Given the description of an element on the screen output the (x, y) to click on. 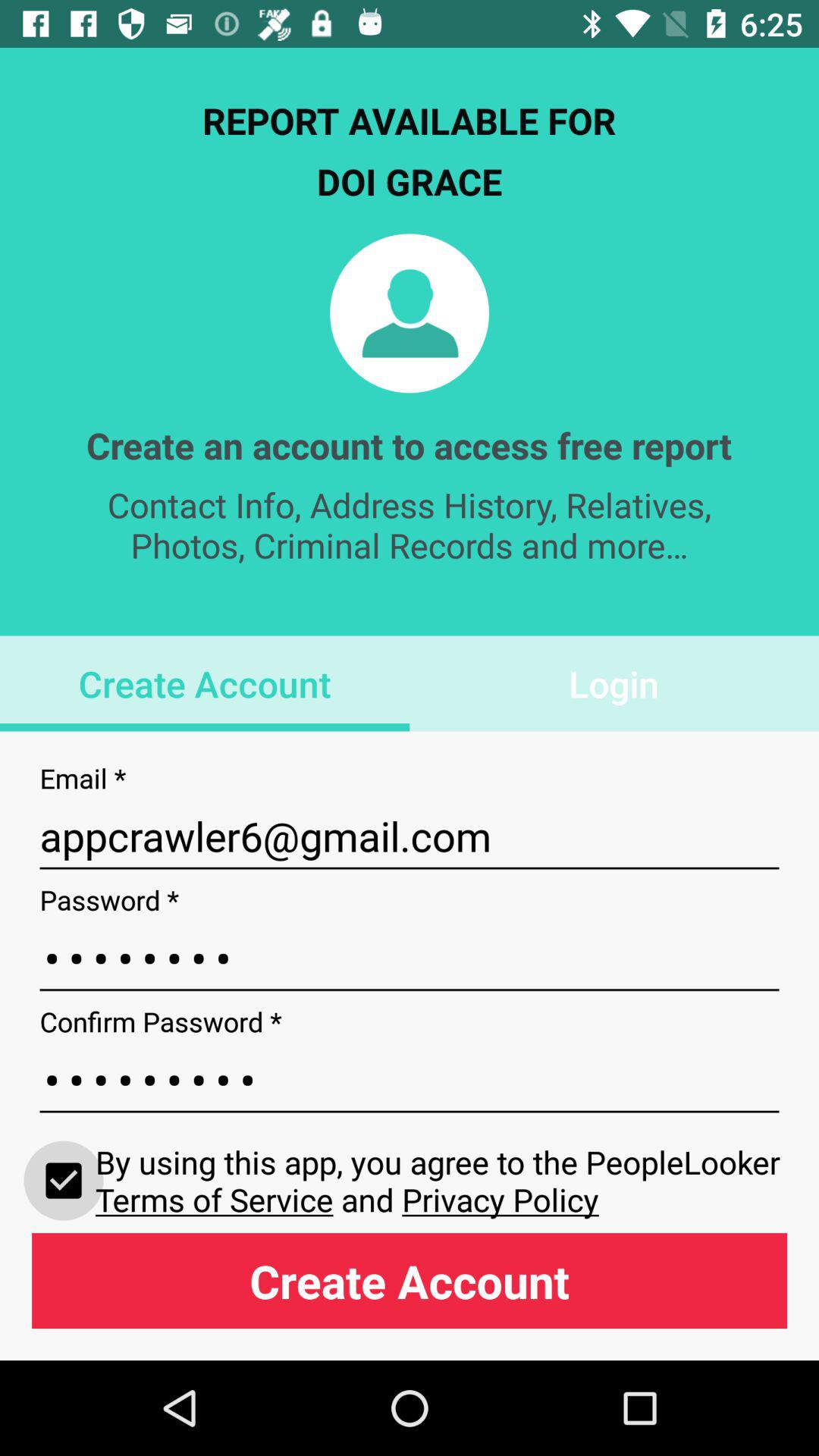
tap item above by using this icon (409, 1079)
